Given the description of an element on the screen output the (x, y) to click on. 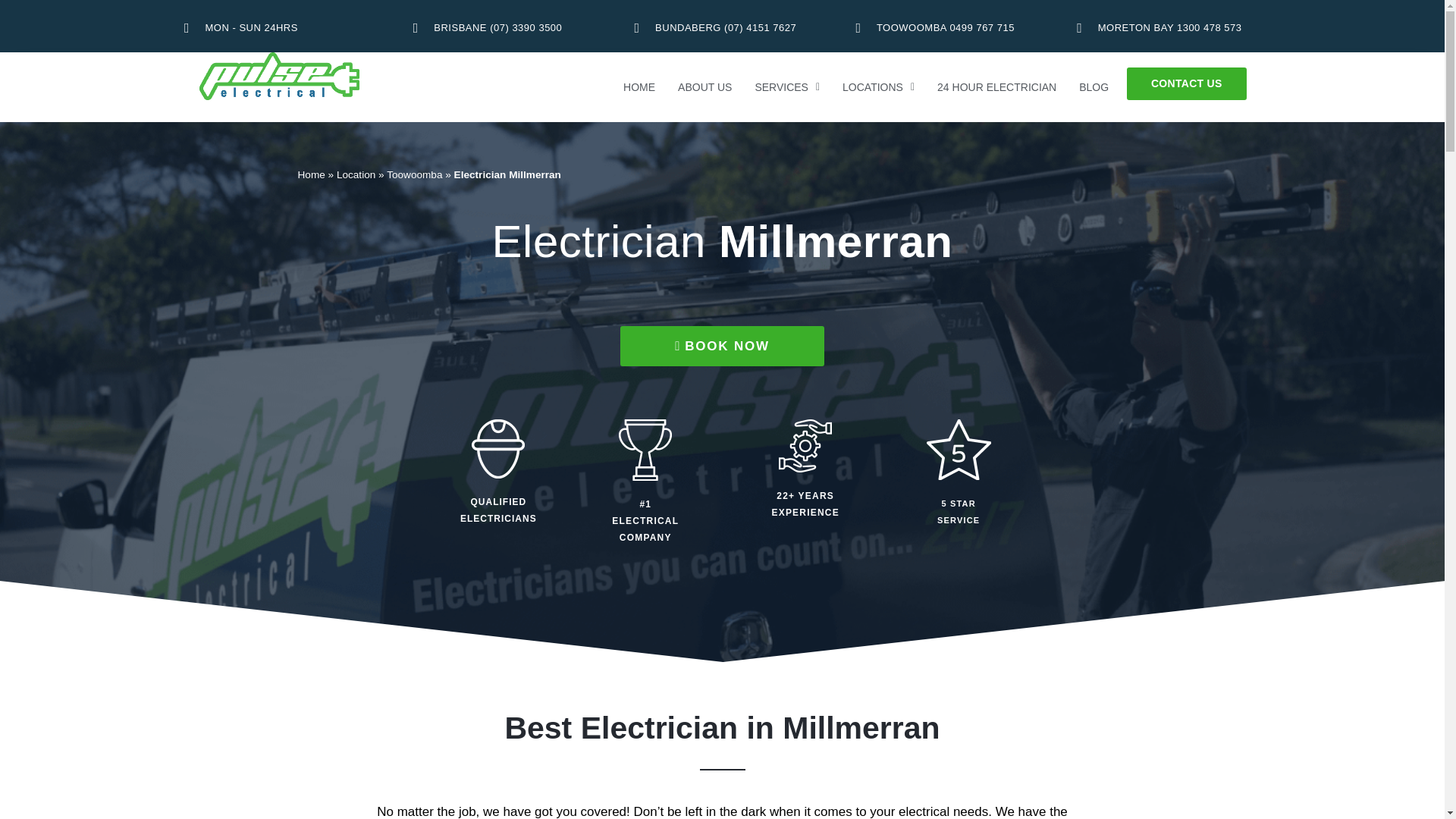
QUALIFIED TRADE PROFFESSIONALS (497, 448)
TOOWOOMBA 0499 767 715 (943, 27)
MORETON BAY 1300 478 573 (1164, 27)
LOCATIONS (878, 87)
24 HOUR ELECTRICIAN (996, 87)
MON - SUN 24HRS (279, 27)
TWENTY TWO YEARS EXPERIENCE (804, 445)
SERVICES (786, 87)
ABOUT US (704, 87)
